Given the description of an element on the screen output the (x, y) to click on. 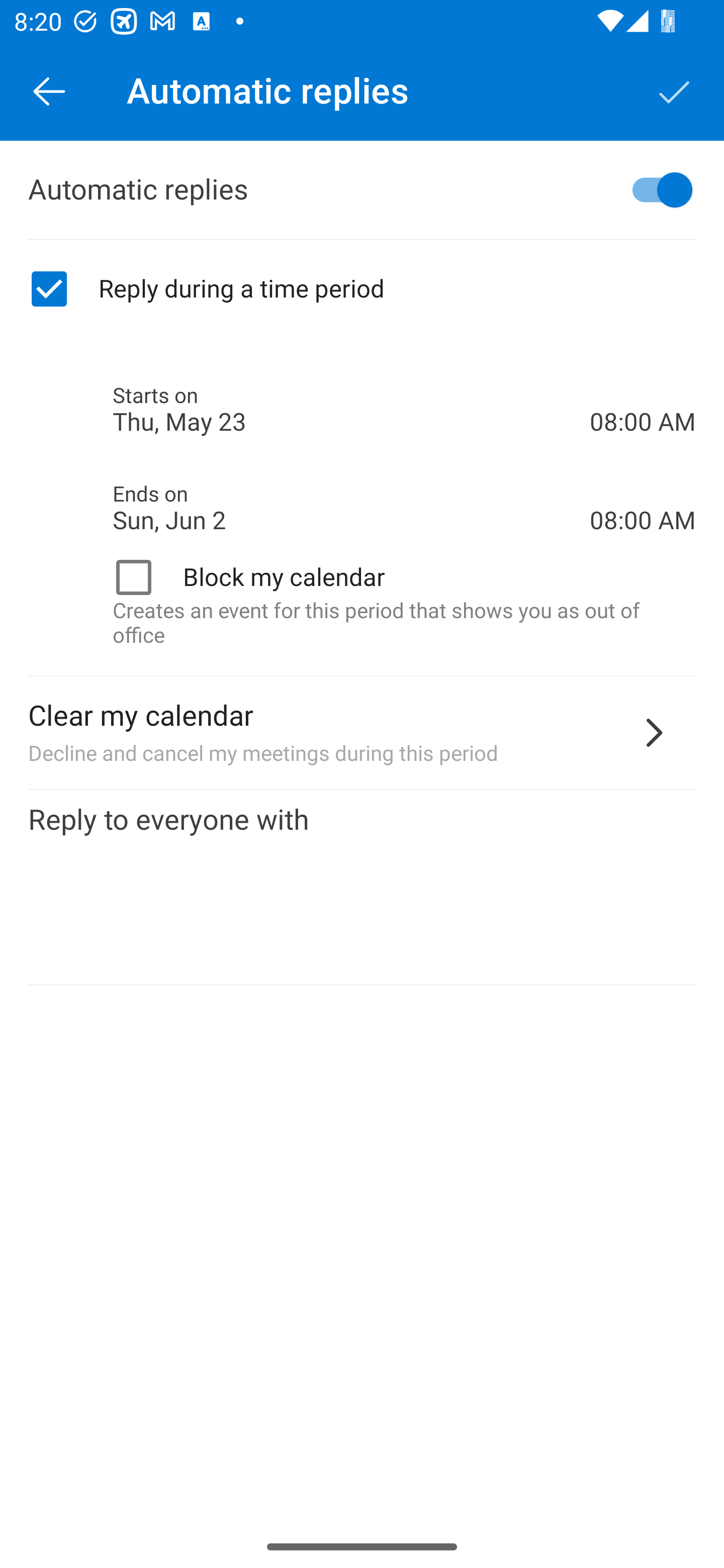
Back (49, 90)
Save (674, 90)
Automatic replies (362, 190)
Reply during a time period (362, 288)
08:00 AM (642, 387)
Starts on Thu, May 23 (351, 409)
08:00 AM (642, 485)
Ends on Sun, Jun 2 (351, 507)
Reply to everyone with Edit box 
 (361, 887)
